Given the description of an element on the screen output the (x, y) to click on. 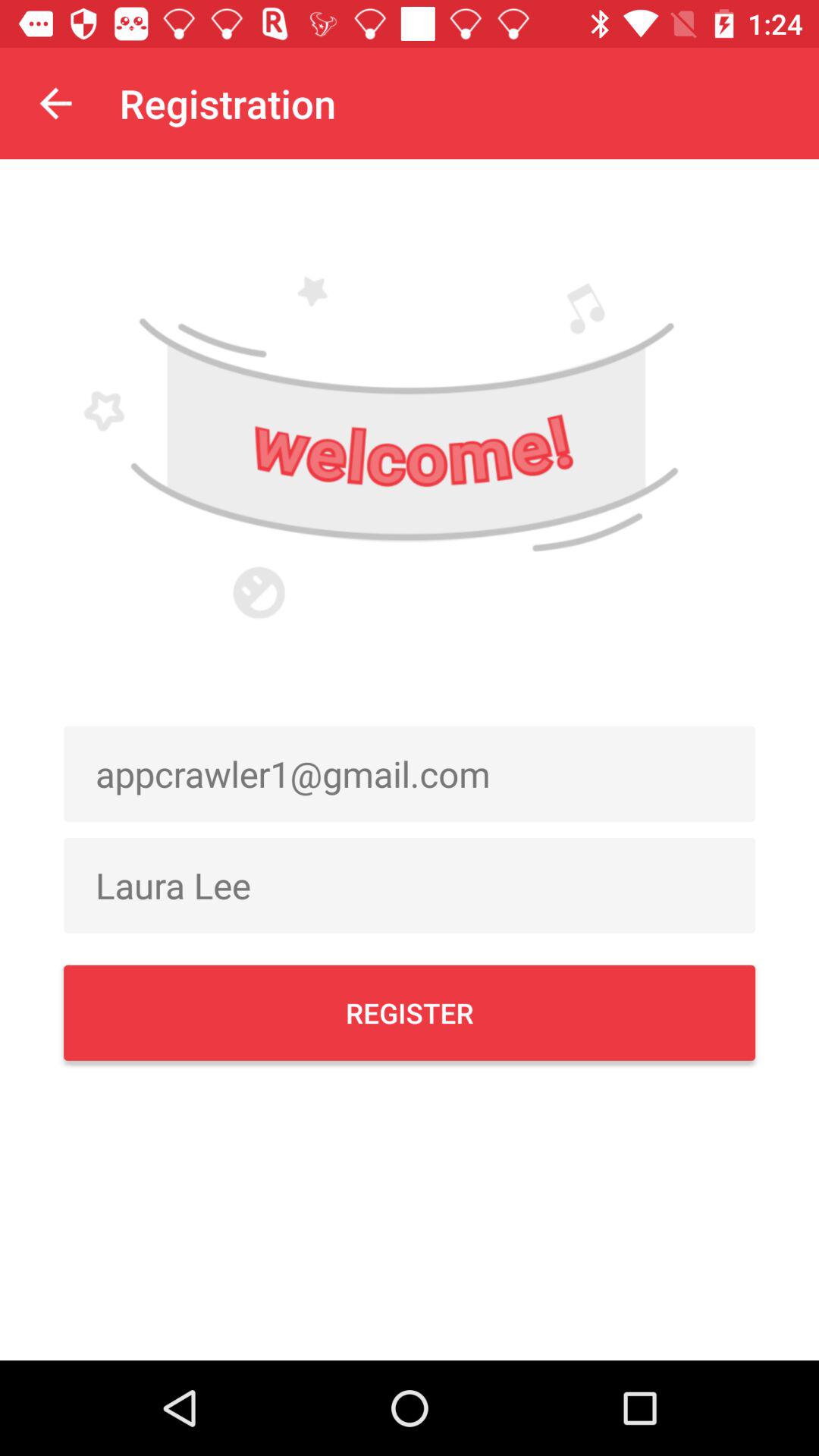
click the appcrawler1@gmail.com item (409, 773)
